Given the description of an element on the screen output the (x, y) to click on. 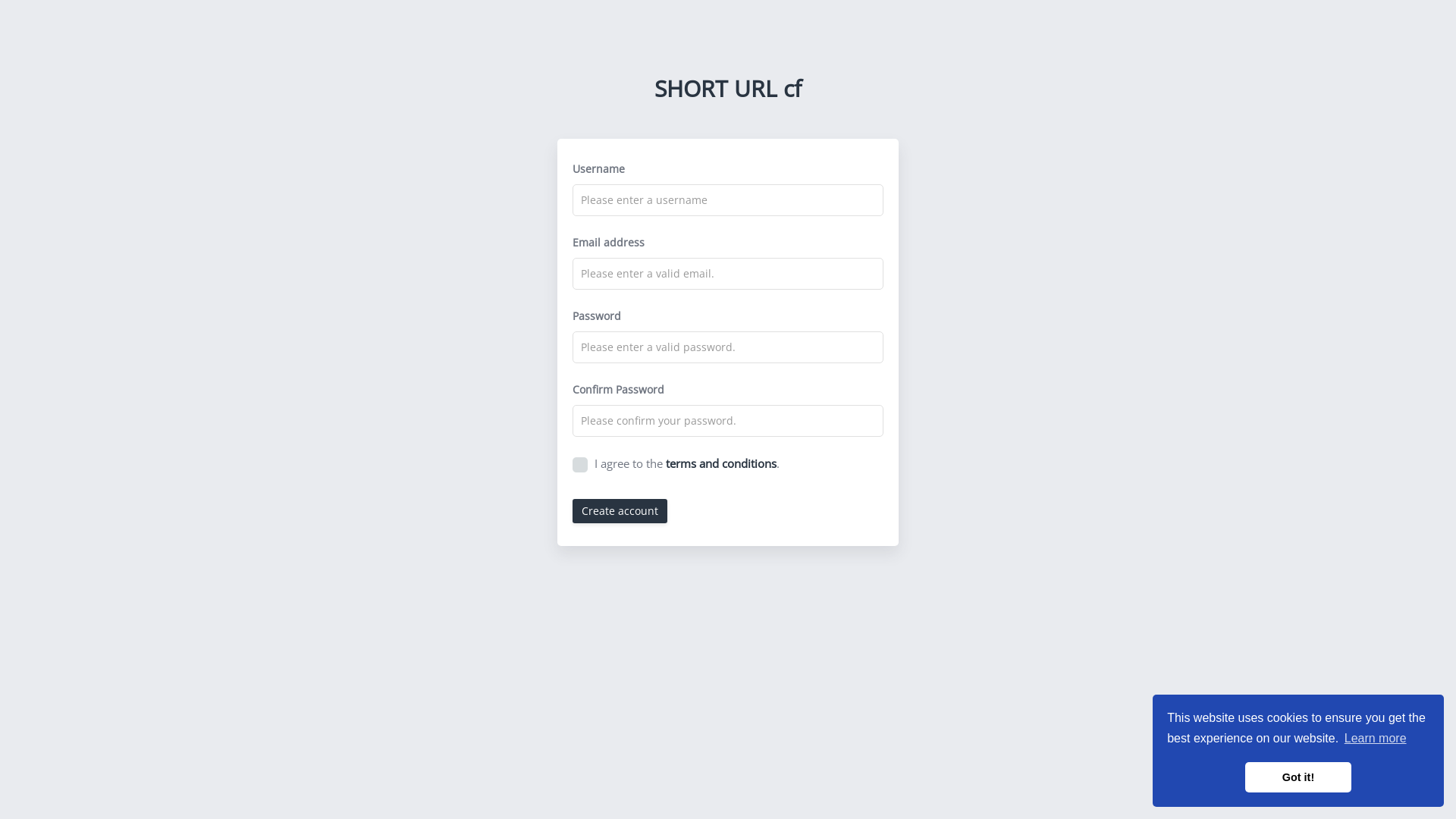
Learn more Element type: text (1375, 738)
Got it! Element type: text (1298, 777)
SHORT URL cf Element type: text (727, 87)
terms and conditions Element type: text (720, 462)
Create account Element type: text (619, 510)
